Given the description of an element on the screen output the (x, y) to click on. 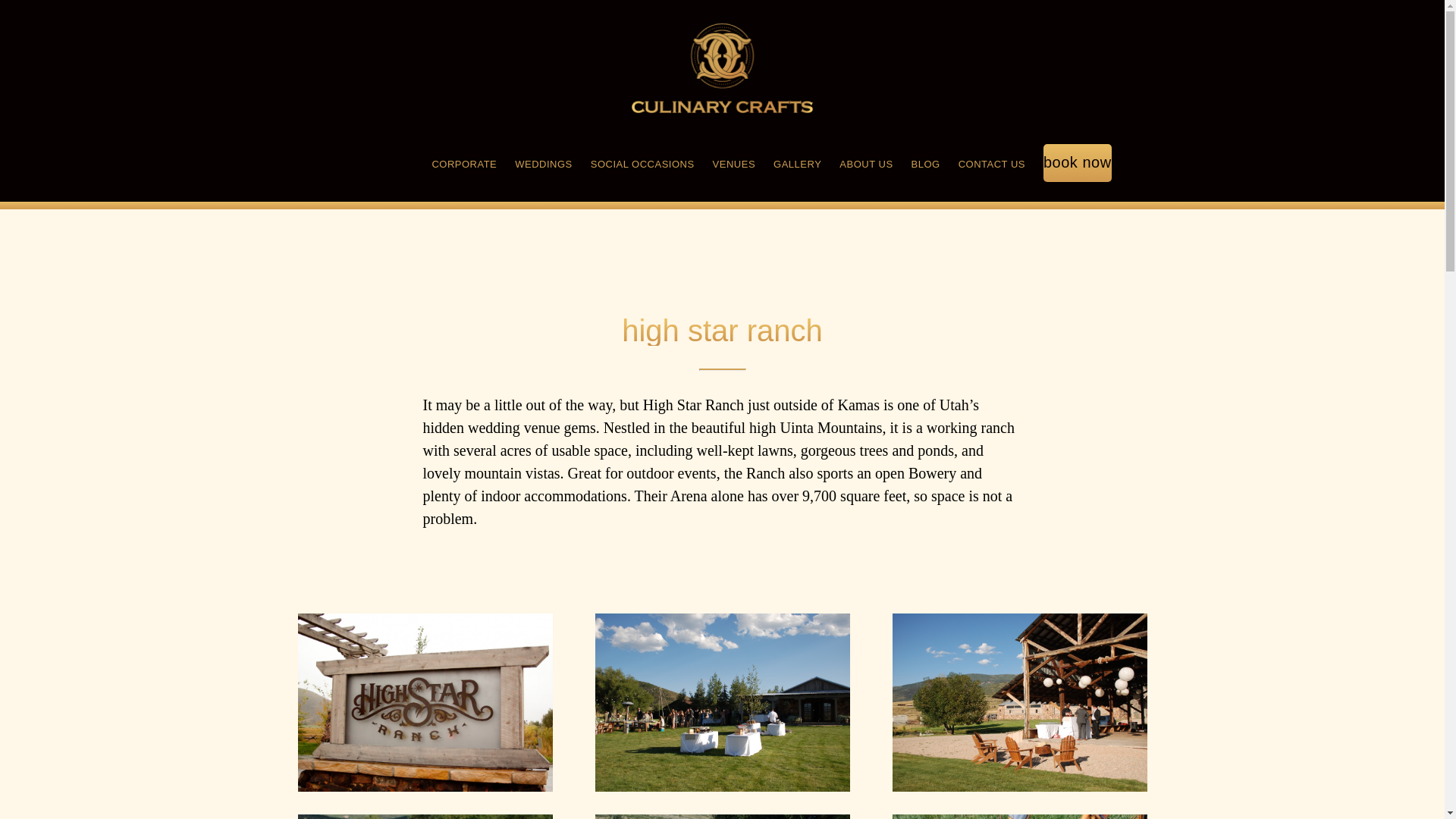
CONTACT US (991, 165)
VENUES (734, 165)
WEDDINGS (543, 165)
BLOG (925, 165)
CORPORATE (463, 165)
SOCIAL OCCASIONS (642, 165)
ABOUT US (866, 165)
book now (1077, 165)
GALLERY (797, 165)
